Given the description of an element on the screen output the (x, y) to click on. 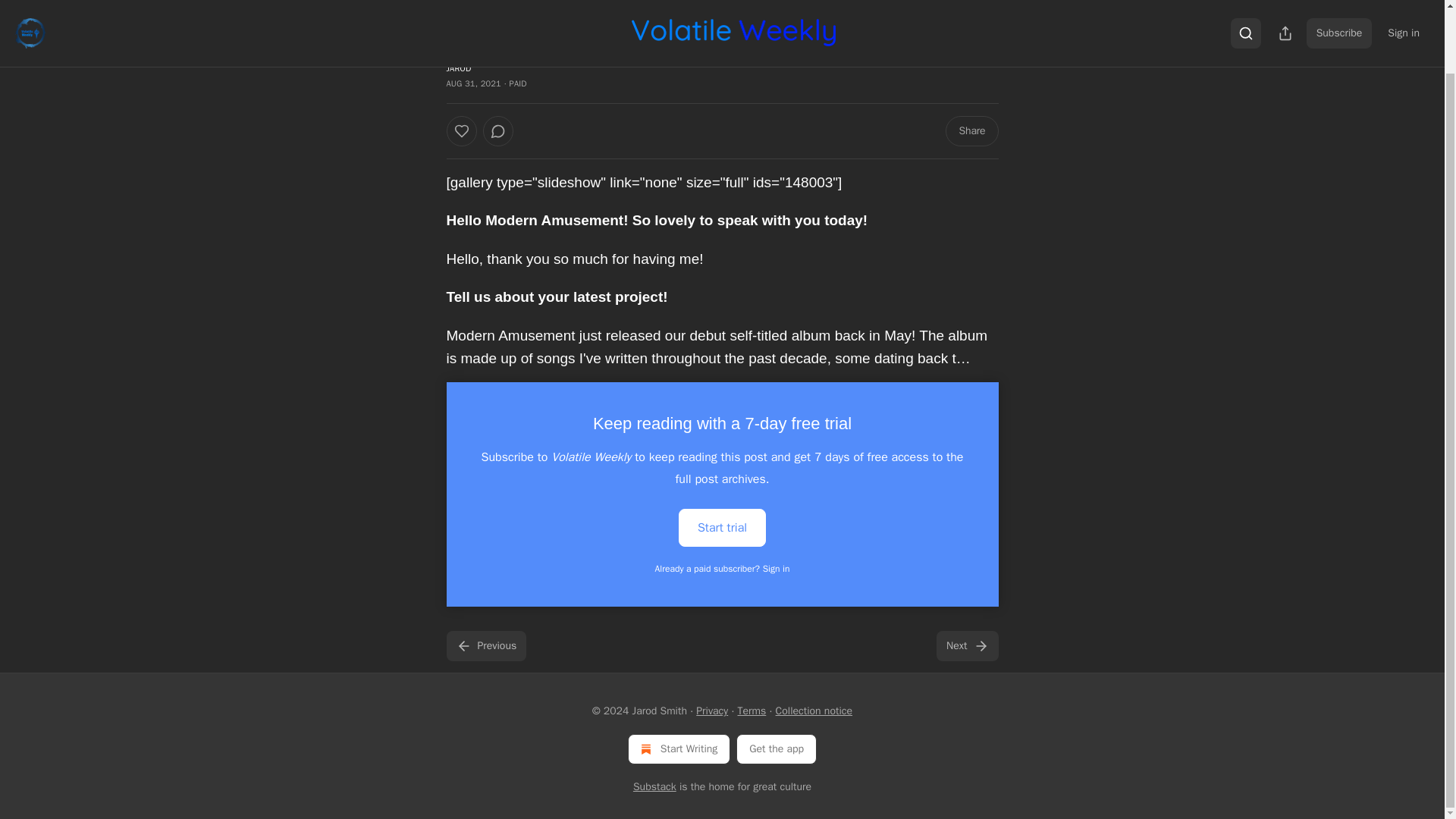
Next (966, 645)
Get the app (776, 748)
Start Writing (678, 748)
Previous (485, 645)
Already a paid subscriber? Sign in (722, 568)
Terms (752, 710)
Substack (655, 786)
Share (970, 131)
Privacy (711, 710)
Start trial (721, 526)
Collection notice (813, 710)
JAROD (457, 68)
Start trial (721, 527)
